Given the description of an element on the screen output the (x, y) to click on. 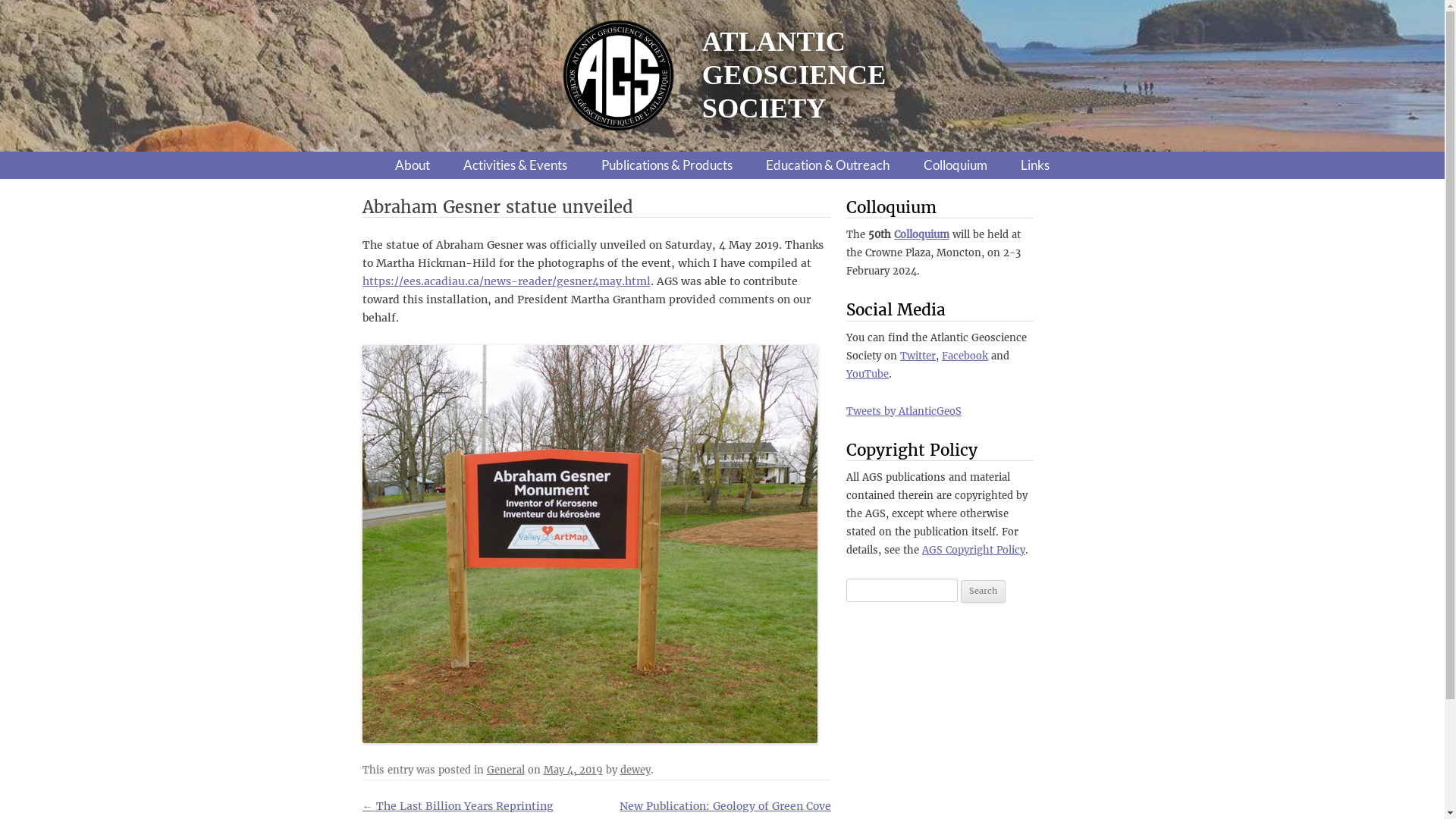
ATLANTIC GEOSCIENCE SOCIETY Element type: text (787, 75)
Facebook Element type: text (964, 355)
dewey Element type: text (635, 769)
Links Element type: text (1034, 165)
Colloquium Element type: text (921, 234)
Tweets by AtlanticGeoS Element type: text (903, 410)
Activities & Events Element type: text (515, 165)
May 4, 2019 Element type: text (572, 769)
Publications & Products Element type: text (666, 165)
Search Element type: text (982, 591)
Skip to content Element type: text (721, 151)
https://ees.acadiau.ca/news-reader/gesner4may.html Element type: text (506, 281)
General Element type: text (505, 769)
Colloquium Element type: text (955, 165)
About Element type: text (412, 165)
Twitter Element type: text (917, 355)
YouTube Element type: text (867, 373)
AGS Copyright Policy Element type: text (973, 549)
Education & Outreach Element type: text (827, 165)
